Given the description of an element on the screen output the (x, y) to click on. 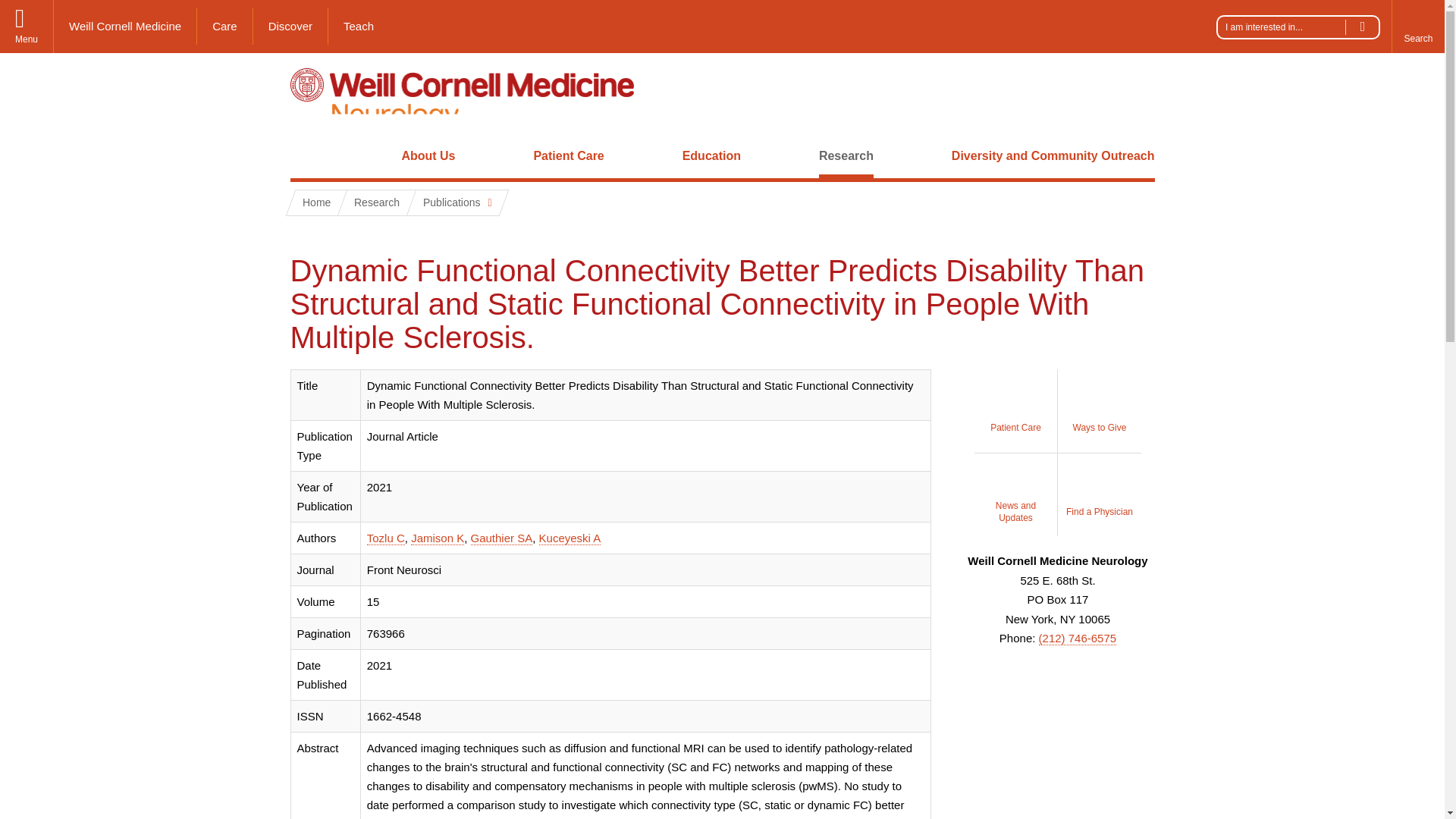
I am interested in... (1297, 27)
Weill Cornell Medicine (124, 26)
Care (224, 26)
Teach (358, 26)
Discover (291, 26)
